Given the description of an element on the screen output the (x, y) to click on. 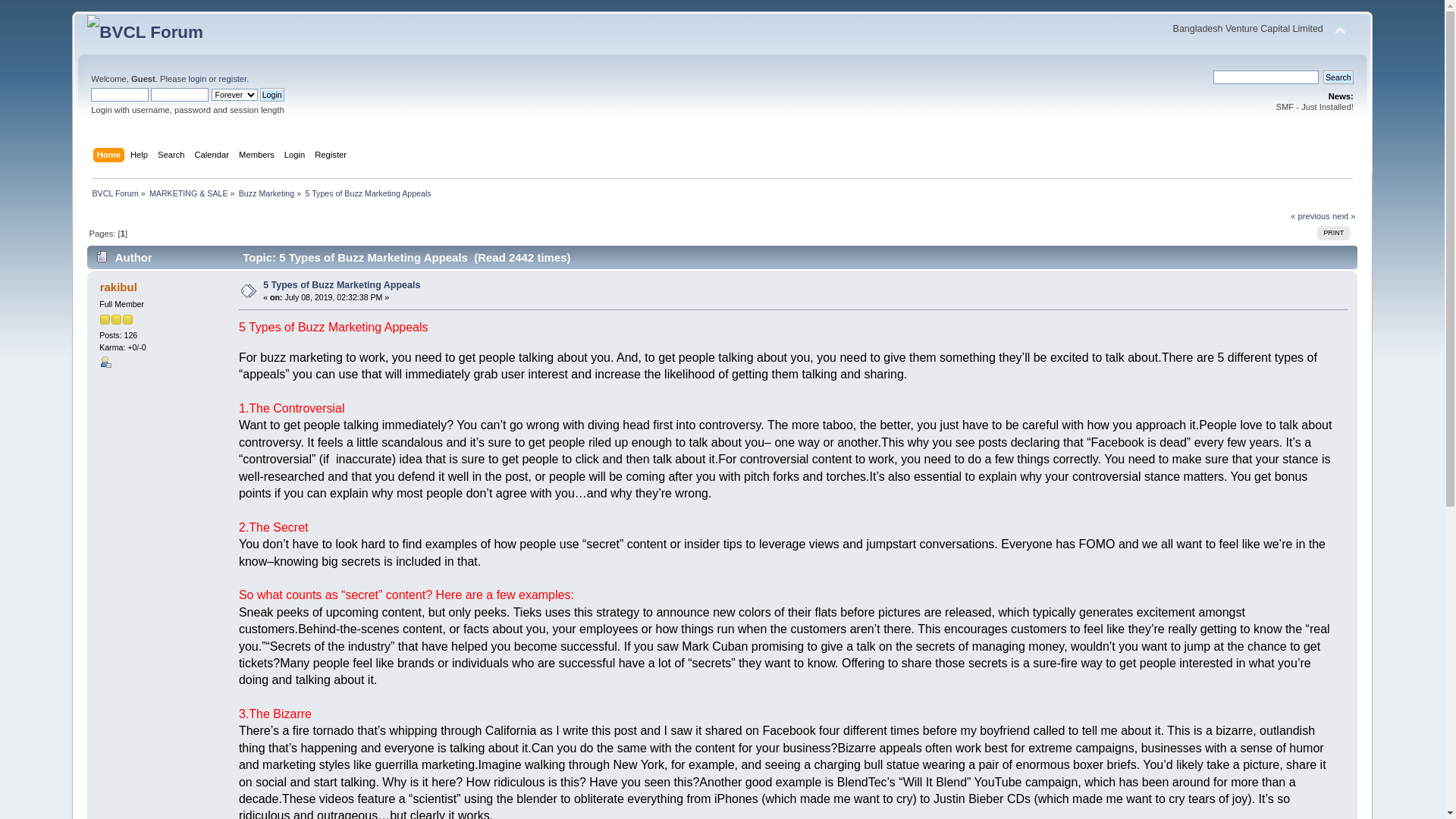
5 Types of Buzz Marketing Appeals Element type: text (367, 192)
Login Element type: text (272, 94)
login Element type: text (197, 78)
PRINT Element type: text (1333, 232)
register Element type: text (232, 78)
Help Element type: text (140, 155)
5 Types of Buzz Marketing Appeals Element type: text (341, 284)
Members Element type: text (258, 155)
Login Element type: text (296, 155)
Buzz Marketing Element type: text (266, 192)
rakibul Element type: text (118, 286)
Calendar Element type: text (213, 155)
Home Element type: text (110, 155)
Register Element type: text (332, 155)
Search Element type: text (172, 155)
BVCL Forum Element type: text (114, 192)
MARKETING & SALE Element type: text (188, 192)
Shrink or expand the header. Element type: hover (1339, 31)
View Profile Element type: hover (105, 361)
Search Element type: text (1338, 77)
